Given the description of an element on the screen output the (x, y) to click on. 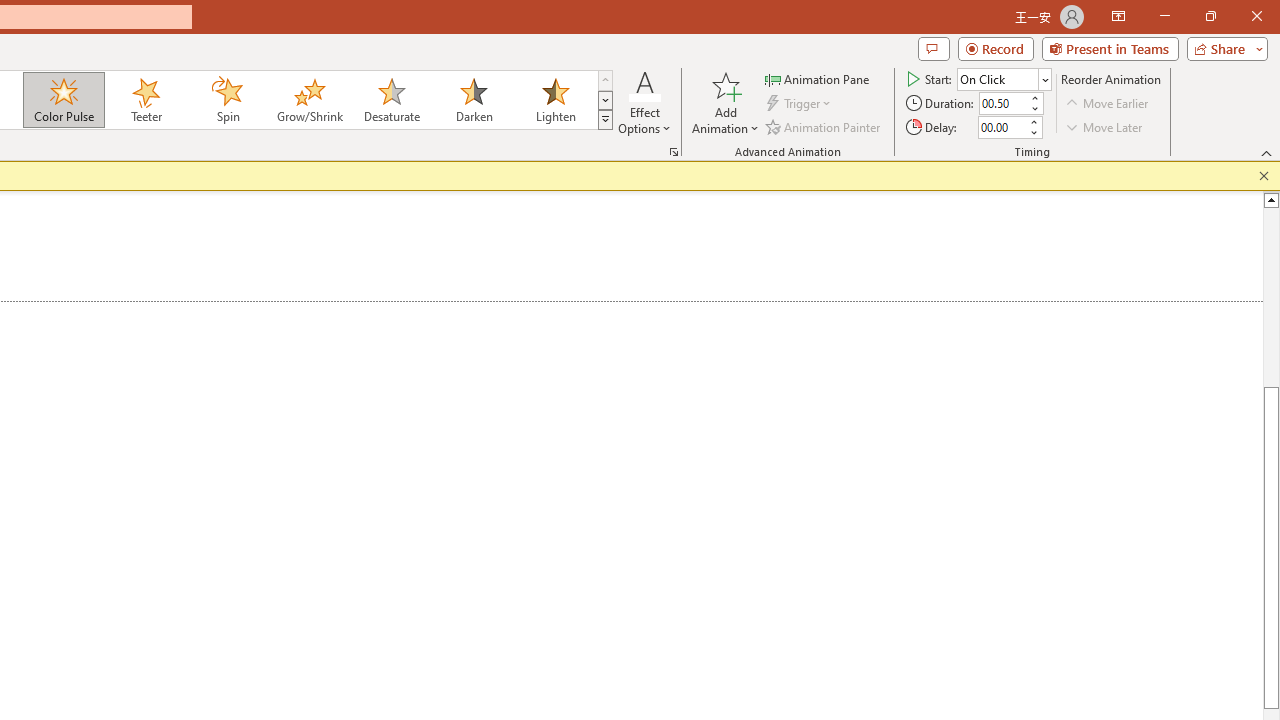
Effect Options (644, 102)
Open (1044, 79)
Color Pulse (63, 100)
Add Animation (725, 102)
Move Later (1105, 126)
Less (1033, 132)
Row up (605, 79)
Animation Delay (1002, 127)
Lighten (555, 100)
Darken (473, 100)
Class: NetUIImage (605, 119)
